Given the description of an element on the screen output the (x, y) to click on. 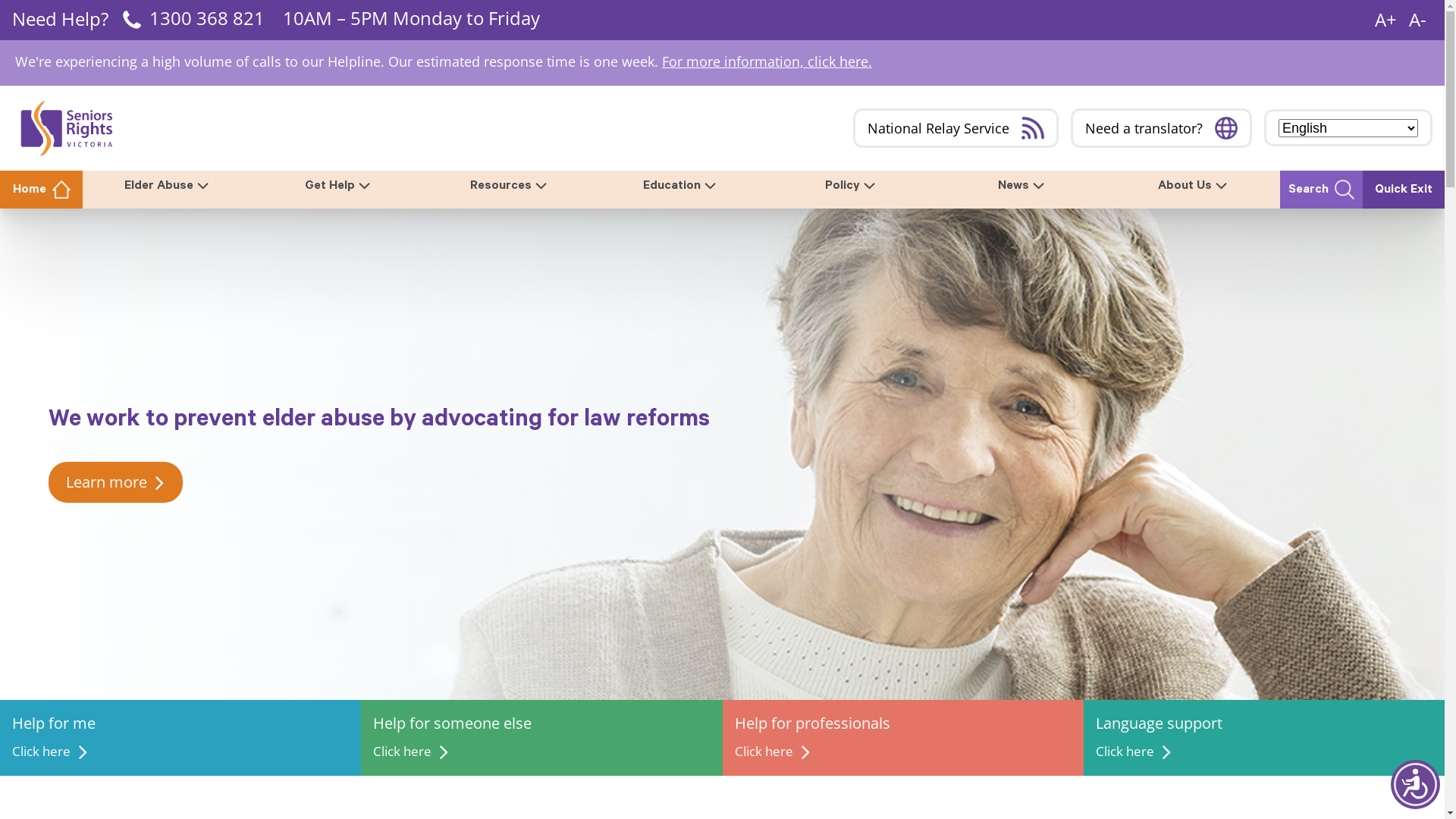
Get Help Element type: text (339, 185)
Education Element type: text (681, 185)
Home Element type: text (41, 189)
Quick Exit Element type: text (1403, 189)
National Relay Service Element type: text (955, 127)
Need a translator? Element type: text (1161, 127)
Help for me
Click here Element type: text (180, 737)
Elder Abuse Element type: text (168, 185)
Policy Element type: text (852, 185)
Help for professionals
Click here Element type: text (901, 737)
Search Element type: text (1321, 189)
About Us Element type: text (1194, 185)
A- Element type: text (1417, 19)
A+ Element type: text (1385, 19)
News Element type: text (1023, 185)
Language support
Click here Element type: text (1263, 737)
For more information, click here. Element type: text (767, 61)
Help for someone else
Click here Element type: text (540, 737)
Learn more Element type: text (115, 481)
Resources Element type: text (510, 185)
